Given the description of an element on the screen output the (x, y) to click on. 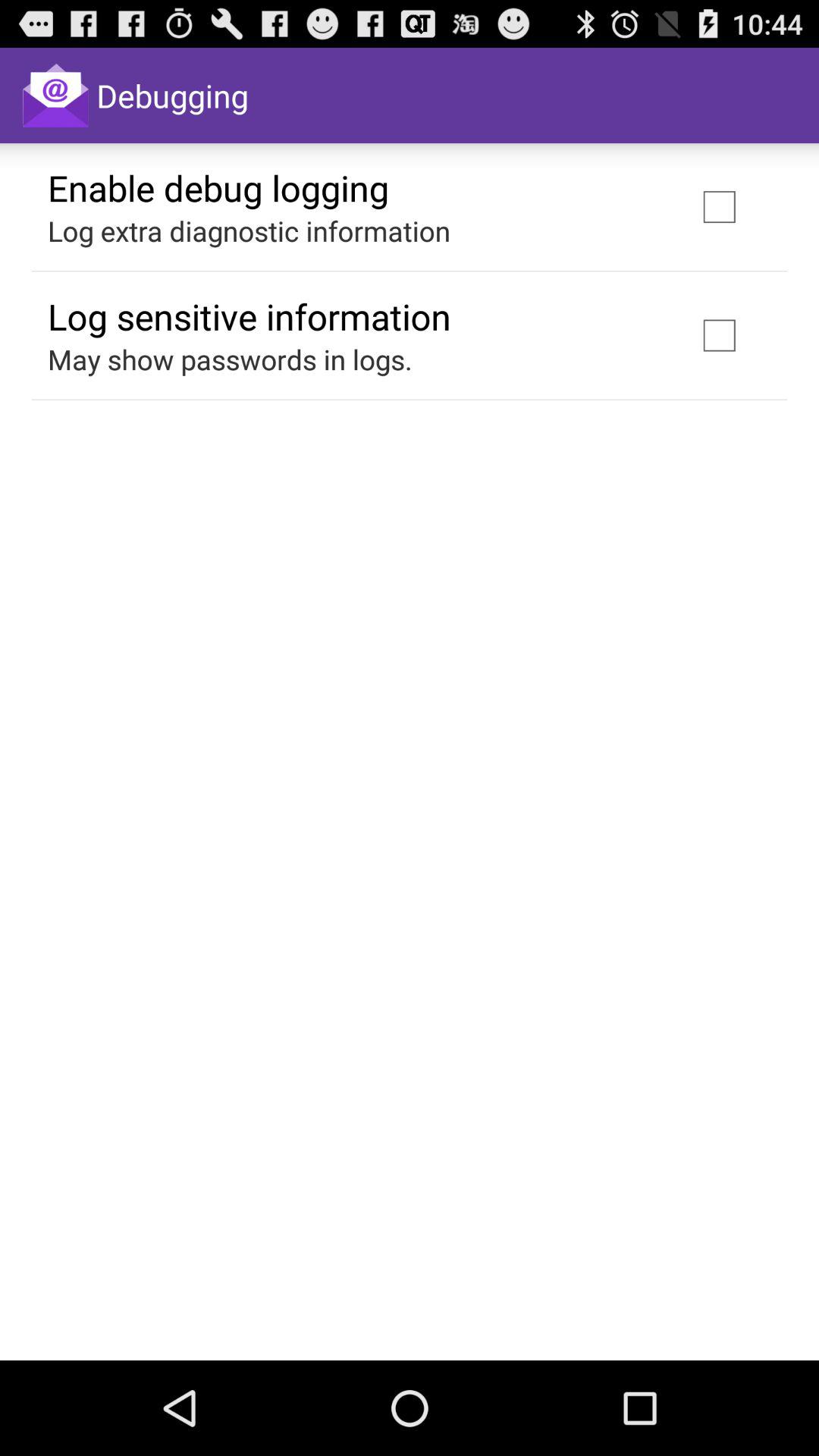
click item below the enable debug logging app (248, 230)
